Given the description of an element on the screen output the (x, y) to click on. 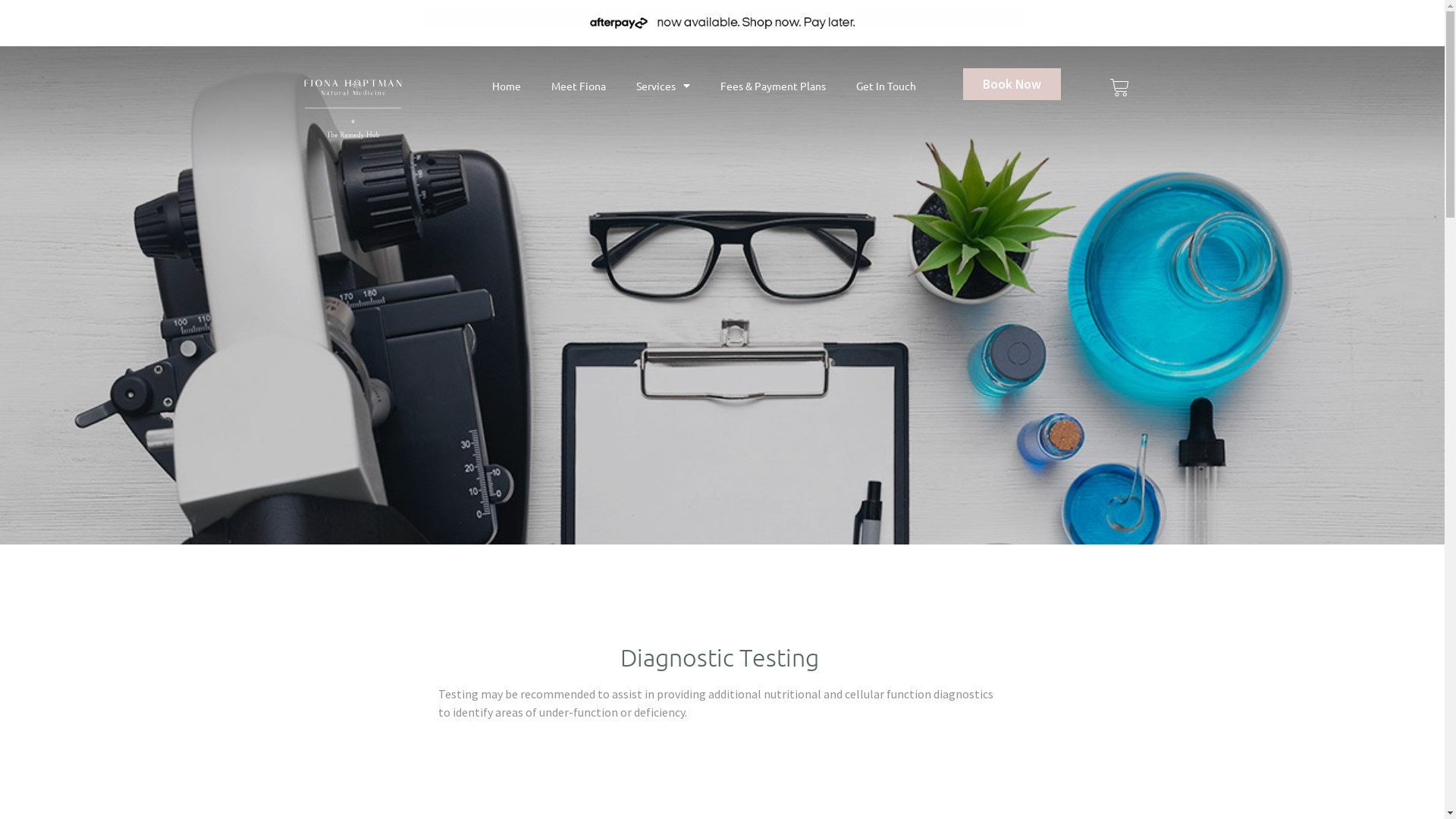
Services Element type: text (662, 85)
Book Now Element type: text (1011, 84)
Get In Touch Element type: text (885, 85)
Fees & Payment Plans Element type: text (772, 85)
Home Element type: text (505, 85)
Meet Fiona Element type: text (577, 85)
